Given the description of an element on the screen output the (x, y) to click on. 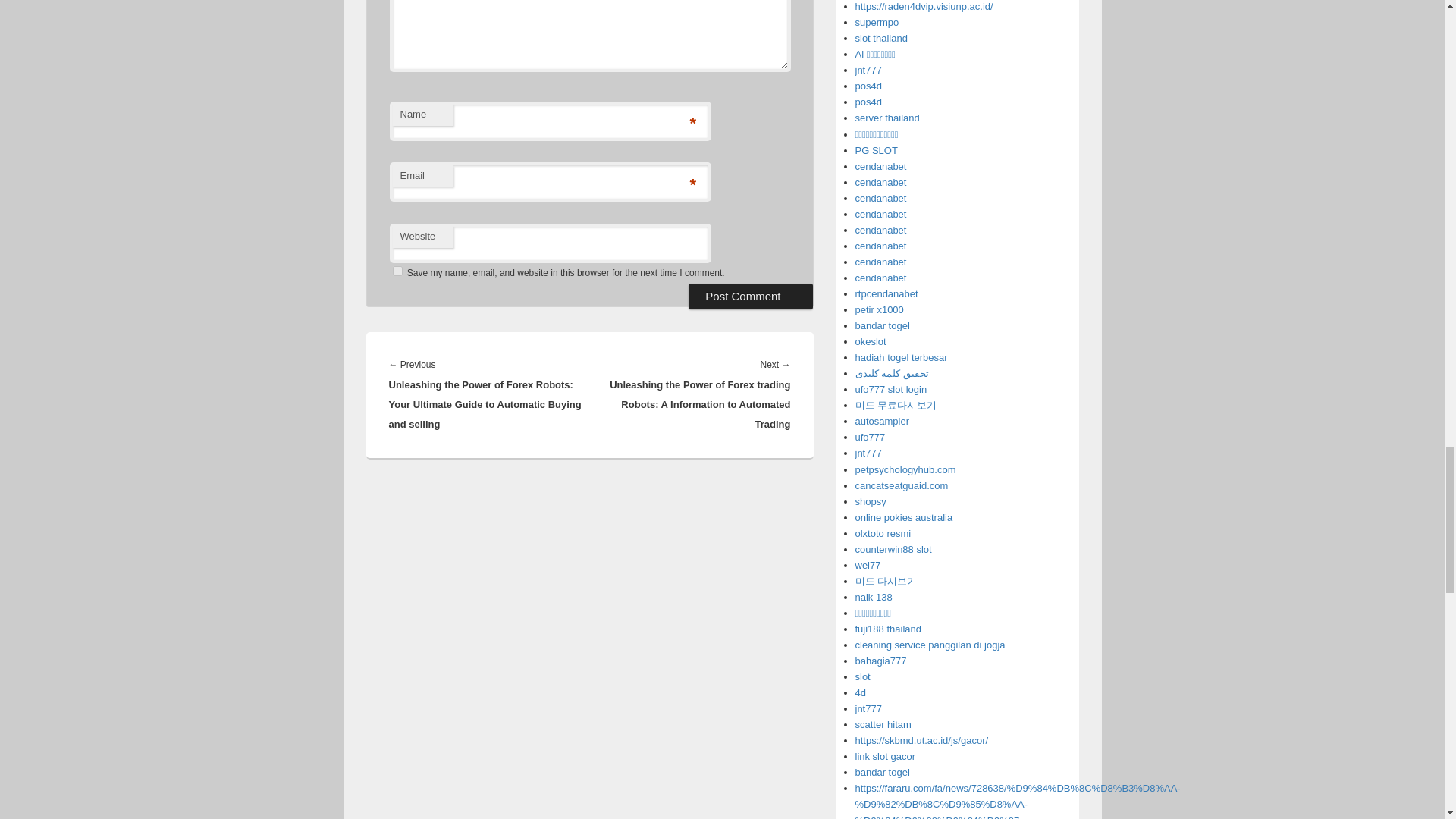
yes (398, 271)
Post Comment (750, 296)
Post Comment (750, 296)
